Given the description of an element on the screen output the (x, y) to click on. 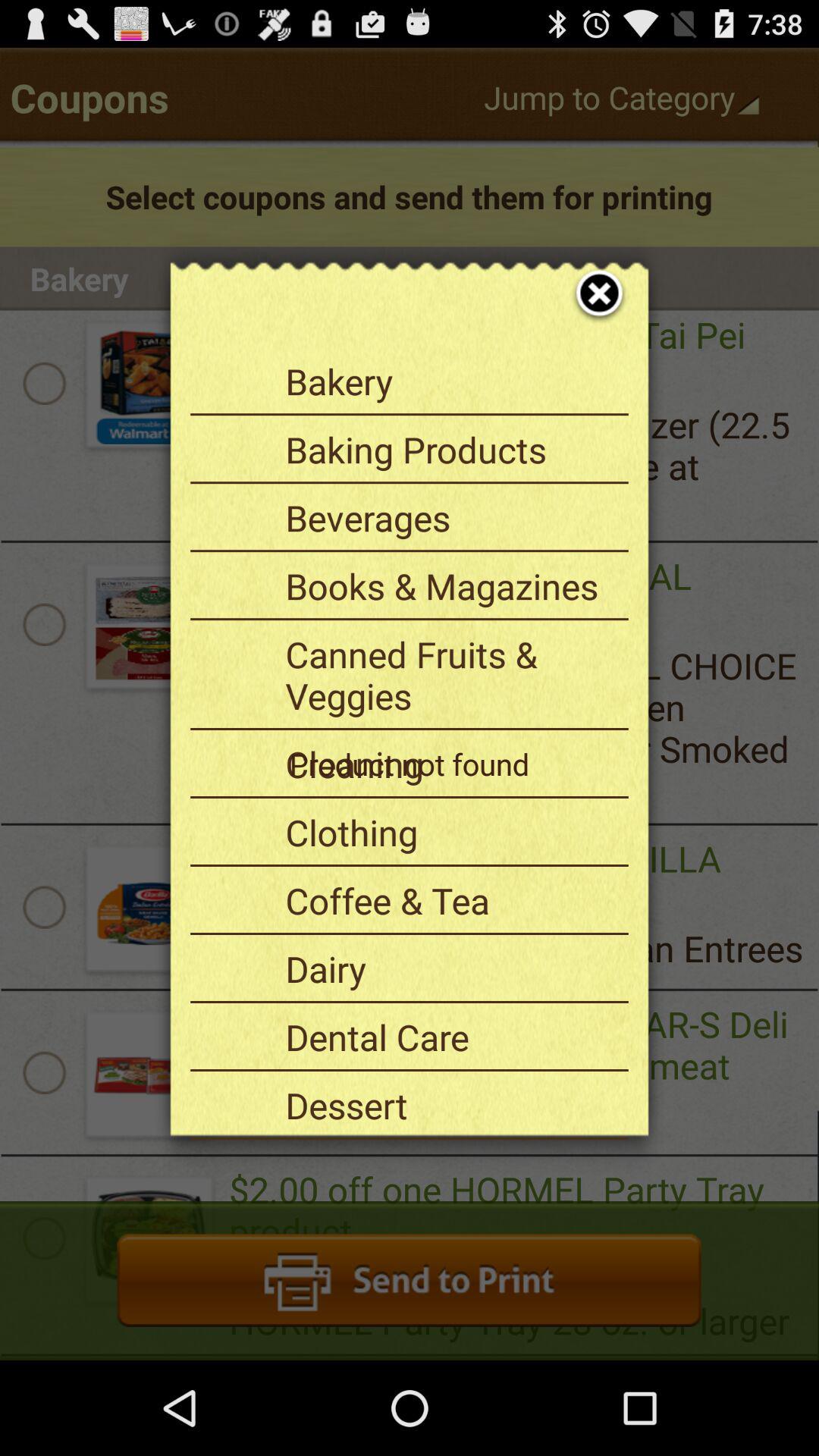
jump until the dairy icon (451, 968)
